Given the description of an element on the screen output the (x, y) to click on. 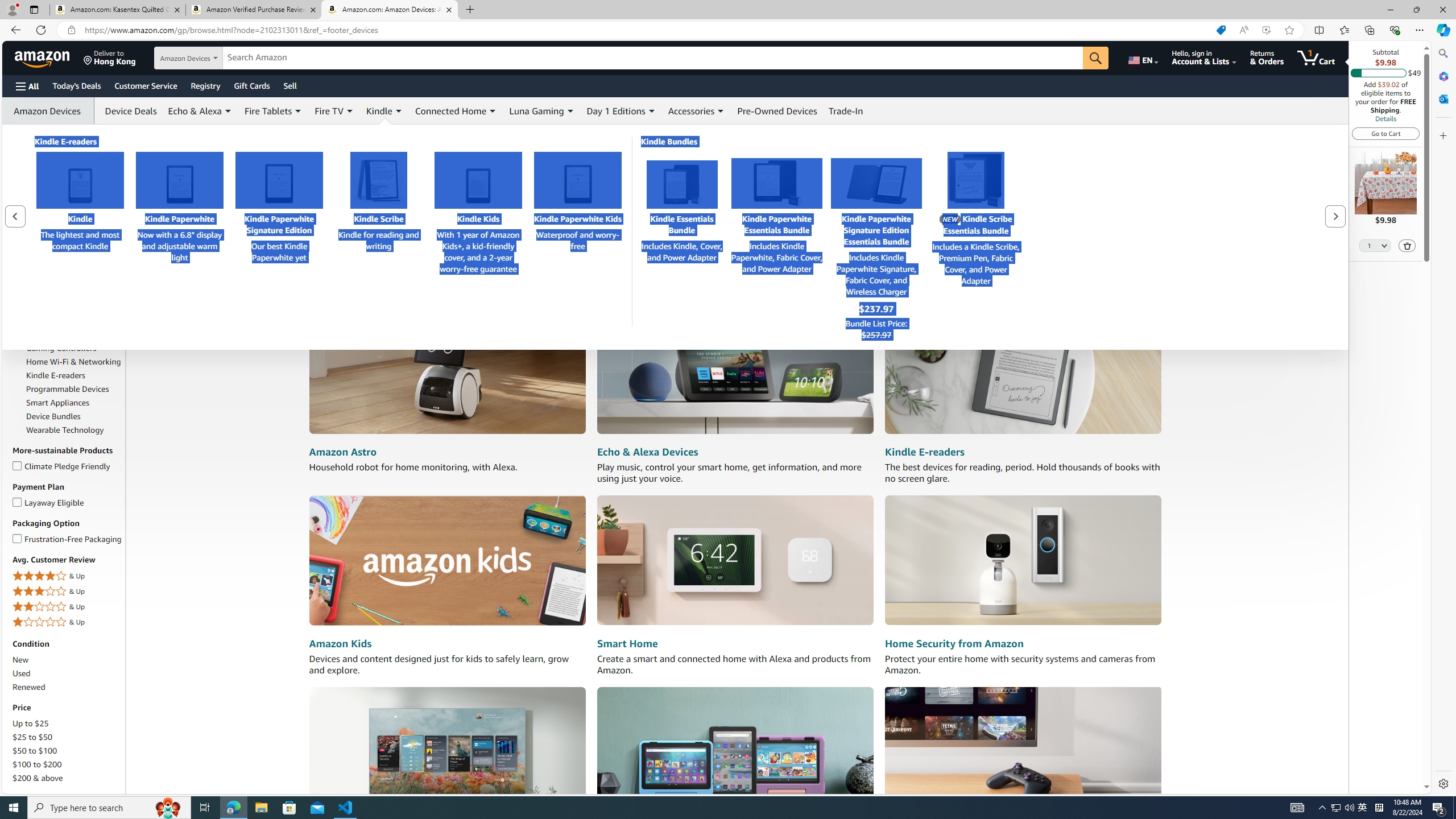
Expand Fire Tablets (298, 111)
Device Deals (128, 110)
3 Stars & Up& Up (67, 591)
Go (1096, 57)
Kindle Scribe Kindle Scribe Kindle for reading and writing (378, 214)
Device Bundles (53, 416)
Outlook (1442, 98)
Kindle Scribe (378, 179)
Up to $25 (31, 723)
